Given the description of an element on the screen output the (x, y) to click on. 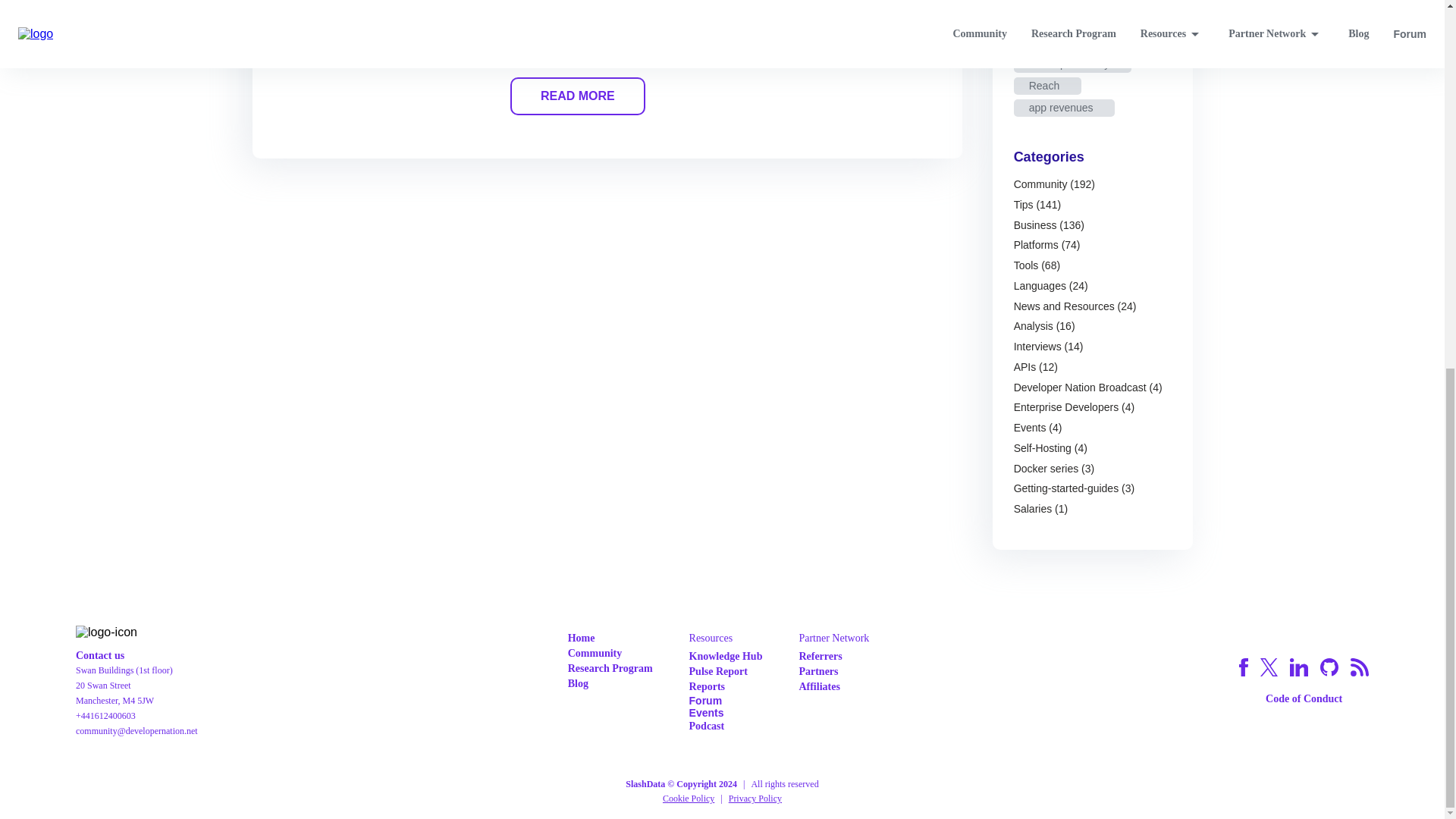
app revenues (1064, 108)
READ MORE (578, 95)
programming languages (1089, 41)
developer survey (1072, 63)
Reach (1047, 85)
developer community (1082, 19)
Analytics (1053, 3)
